Given the description of an element on the screen output the (x, y) to click on. 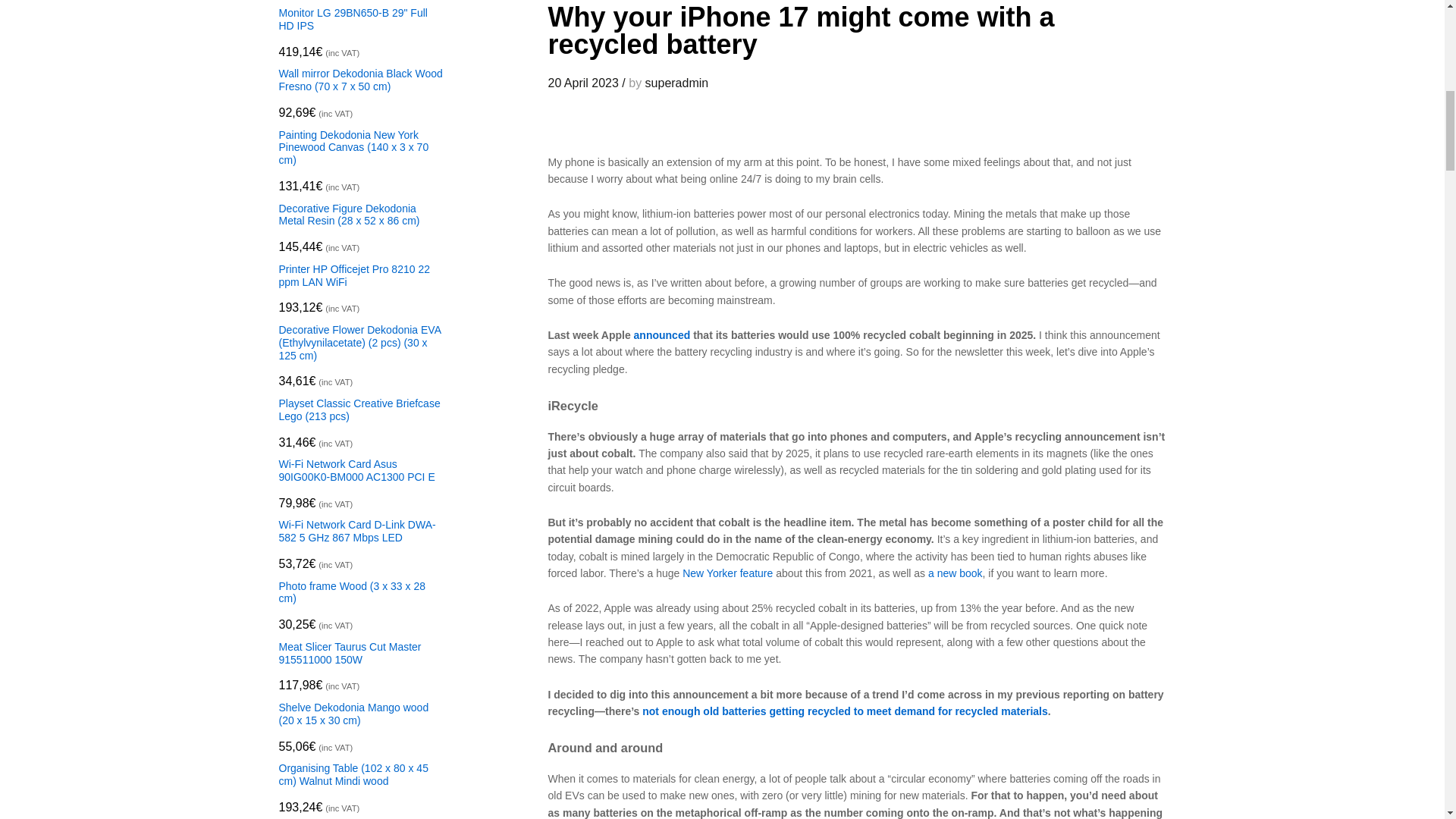
announced (661, 335)
New Yorker feature (727, 573)
20 April 2023 (582, 82)
superadmin (677, 82)
a new book (955, 573)
